Given the description of an element on the screen output the (x, y) to click on. 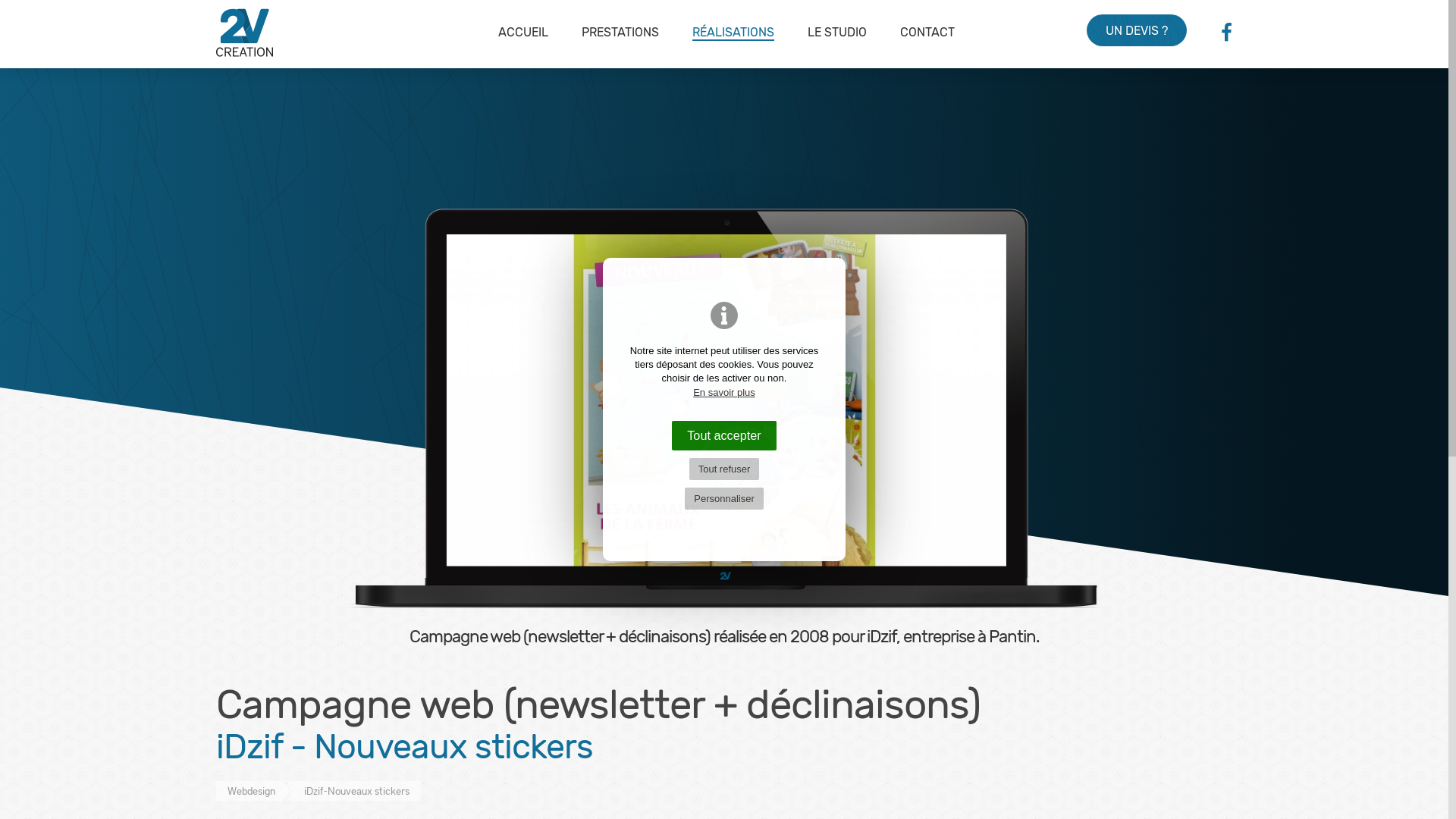
Tout accepter Element type: text (723, 435)
LE STUDIO Element type: text (837, 32)
CONTACT Element type: text (927, 32)
Personnaliser Element type: text (723, 498)
iDzif - Nouveaux stickers Element type: hover (724, 425)
iDzif - Nouveaux stickers Element type: hover (724, 399)
ACCUEIL Element type: text (522, 32)
PRESTATIONS Element type: text (620, 32)
Tout refuser Element type: text (724, 469)
iDzif - Nouveaux stickers Element type: text (360, 790)
Webdesign Element type: text (249, 790)
UN DEVIS ? Element type: text (1136, 30)
